Given the description of an element on the screen output the (x, y) to click on. 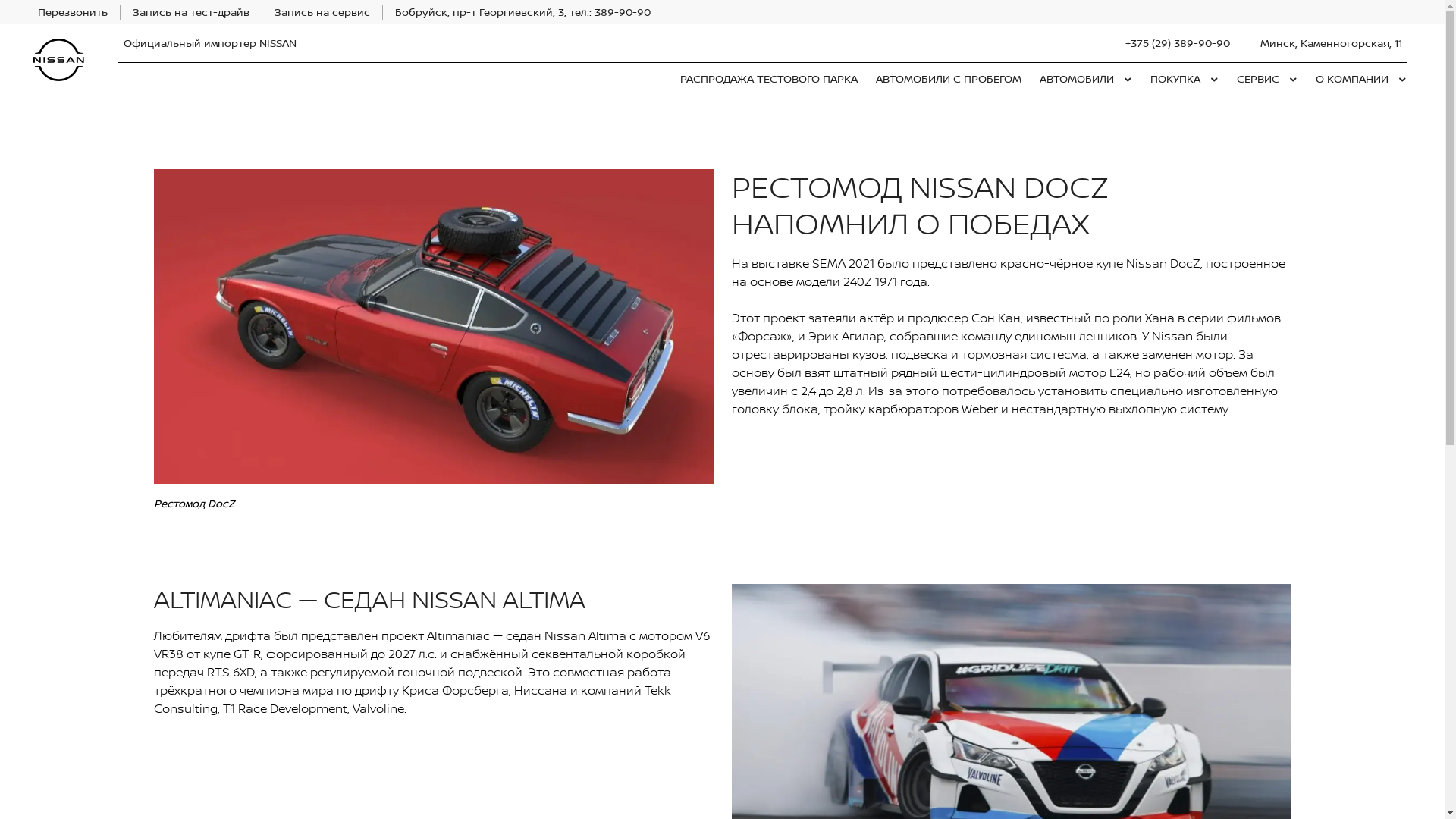
+375 (29) 389-90-90 Element type: text (1177, 42)
DocZ Element type: hover (432, 326)
